Given the description of an element on the screen output the (x, y) to click on. 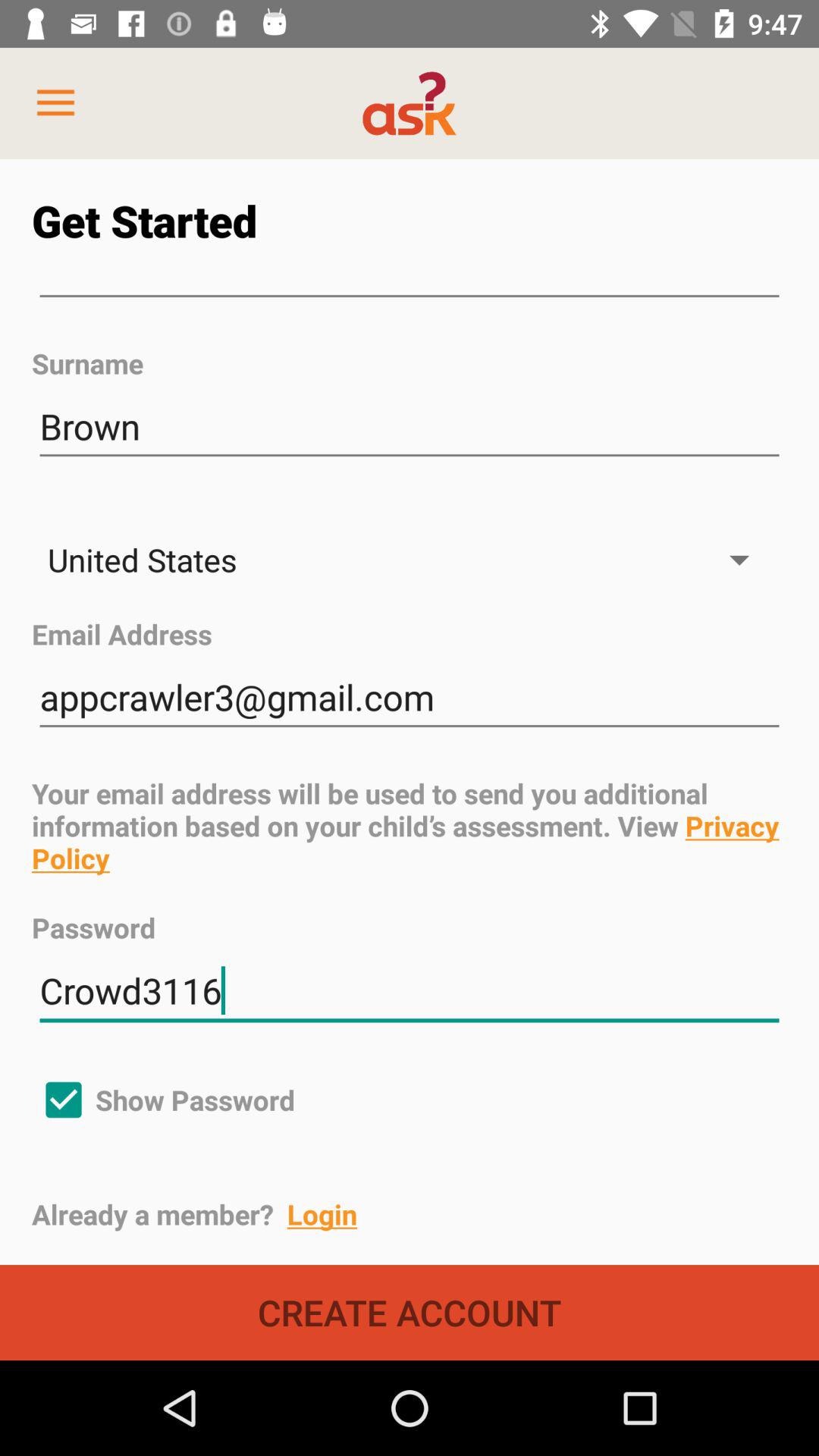
swipe to jon item (409, 296)
